Given the description of an element on the screen output the (x, y) to click on. 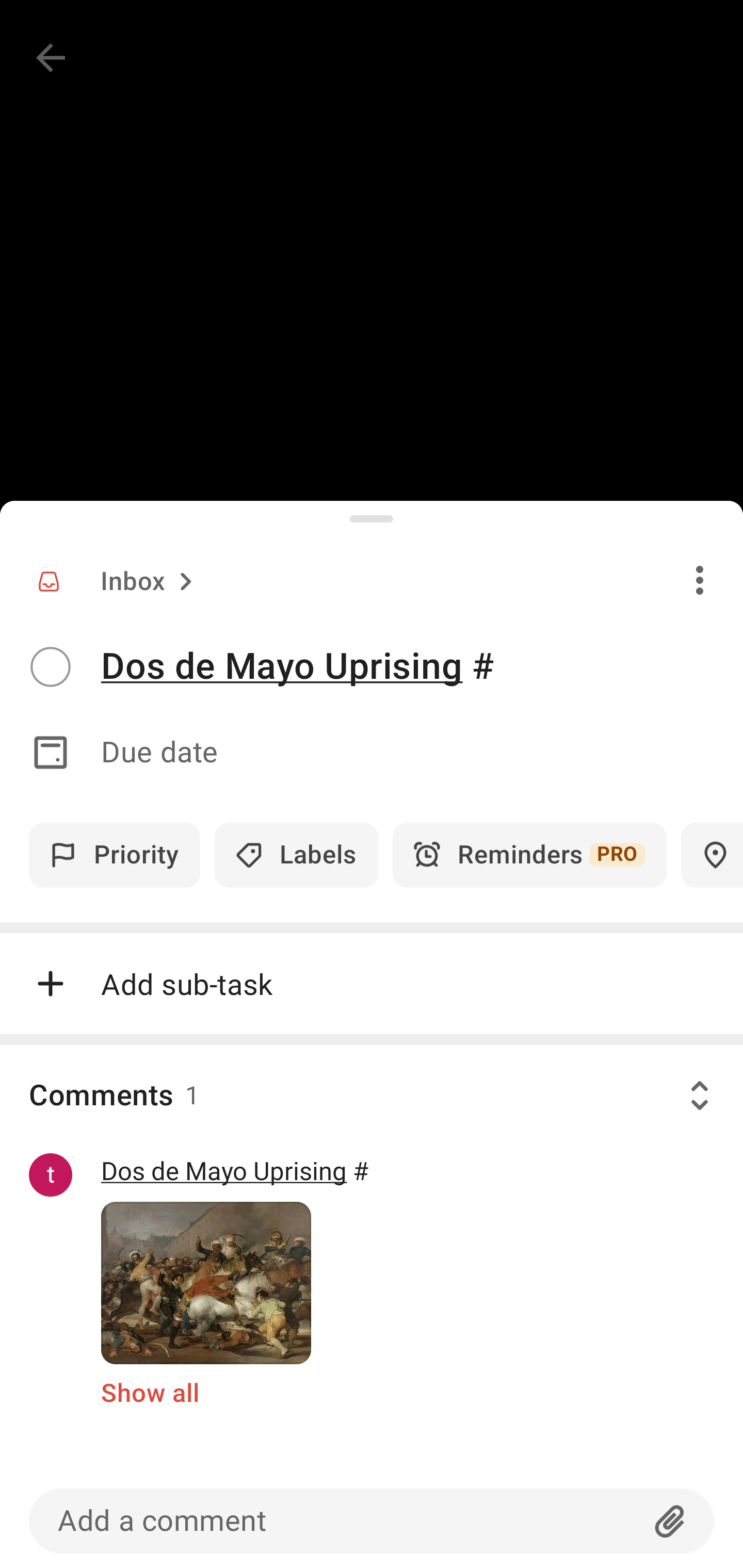
Overflow menu (699, 580)
Complete (50, 667)
Dos de Mayo Uprising #​ (422, 666)
Date Due date (371, 752)
Priority (113, 855)
Labels (296, 855)
Reminders PRO (529, 855)
Locations PRO (712, 855)
Add sub-task (371, 983)
Add a comment Attachment (371, 1520)
Attachment (670, 1520)
